Given the description of an element on the screen output the (x, y) to click on. 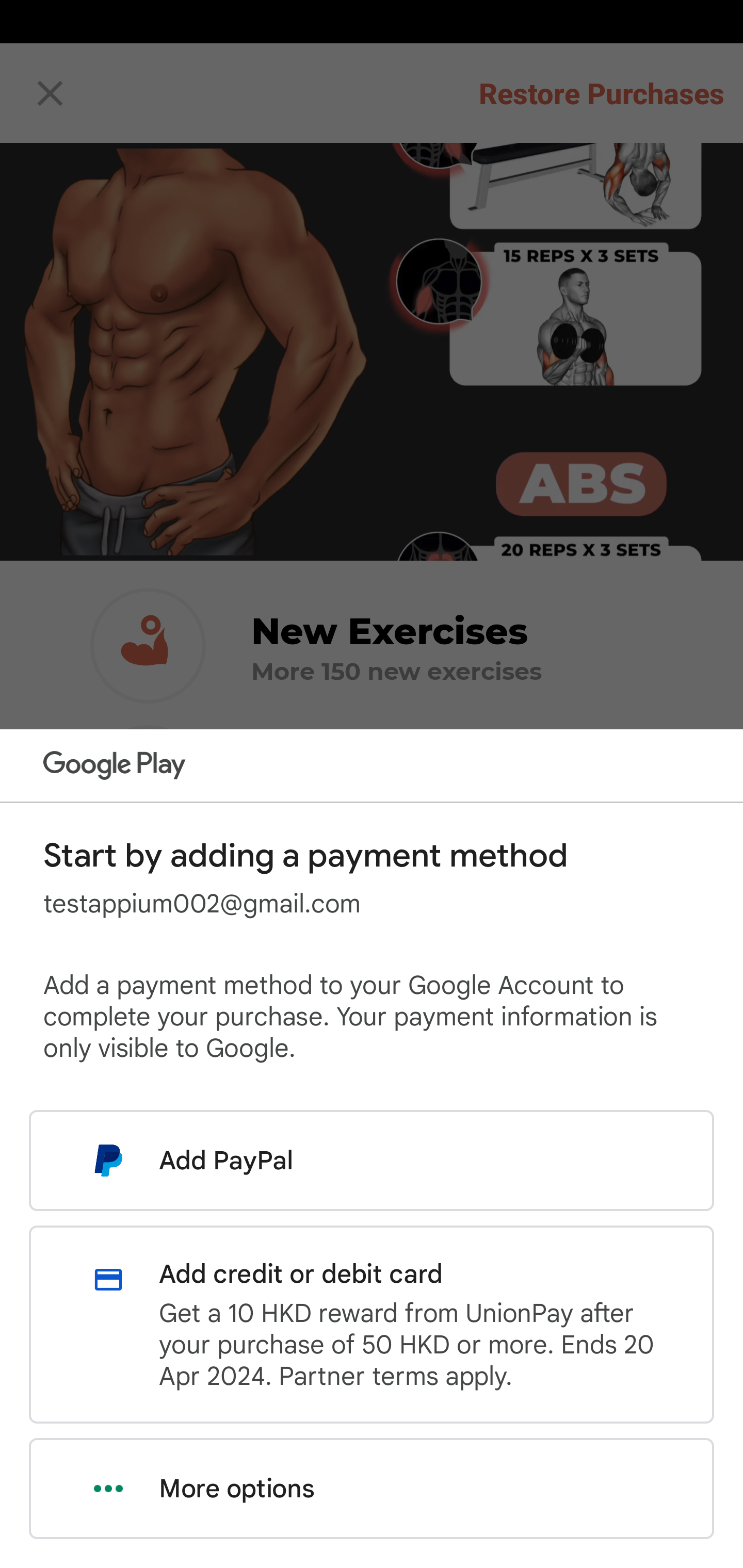
Add PayPal (371, 1160)
More options (371, 1488)
